Given the description of an element on the screen output the (x, y) to click on. 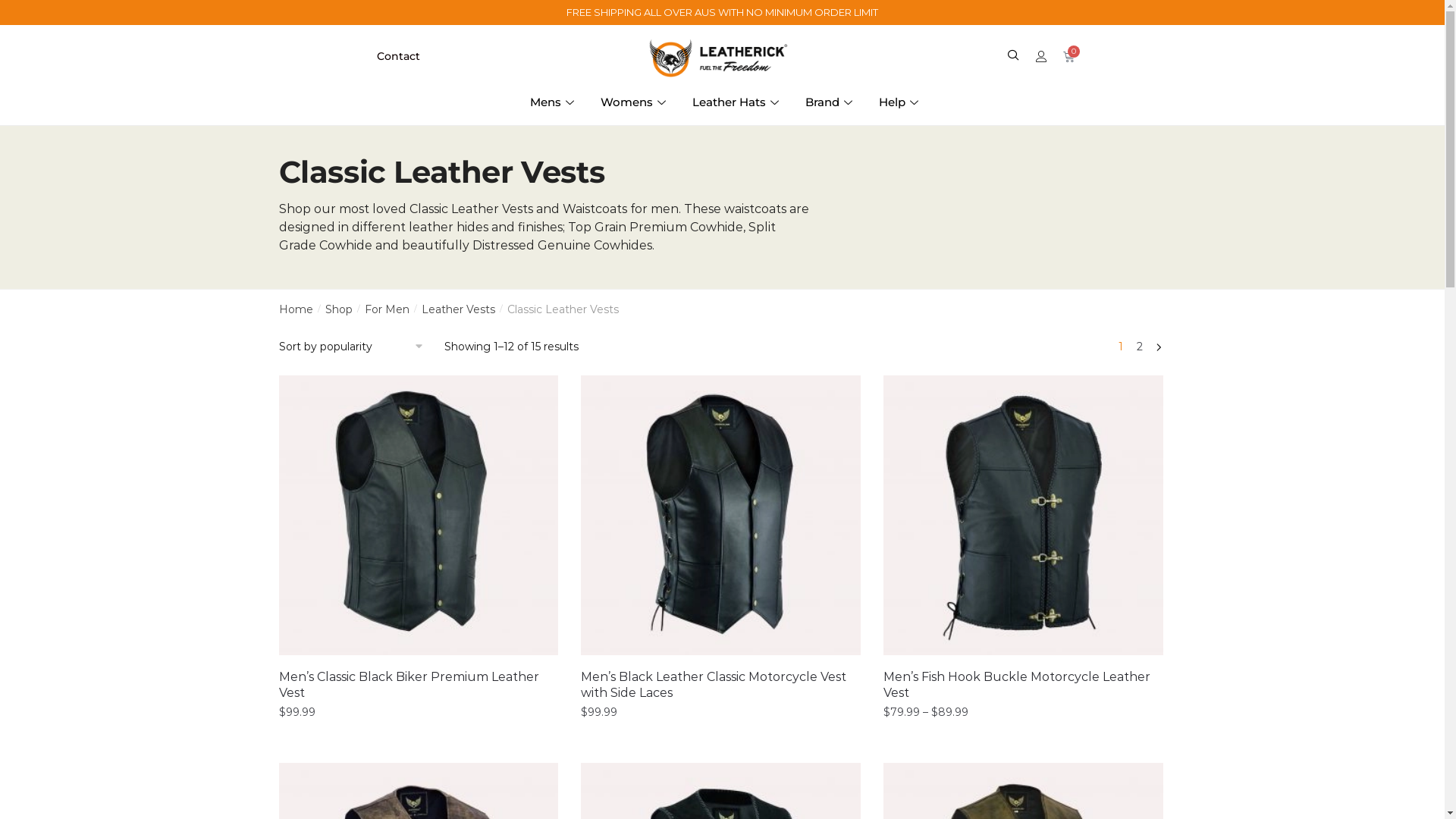
Home Element type: text (296, 309)
0 Element type: text (1068, 55)
Leather Hats Element type: text (736, 102)
Leather Vests Element type: text (458, 309)
Shop Element type: text (338, 309)
Mens Element type: text (553, 102)
2 Element type: text (1139, 346)
Help Element type: text (900, 102)
Brand Element type: text (830, 102)
For Men Element type: text (386, 309)
Womens Element type: text (634, 102)
Contact Element type: text (397, 55)
